Given the description of an element on the screen output the (x, y) to click on. 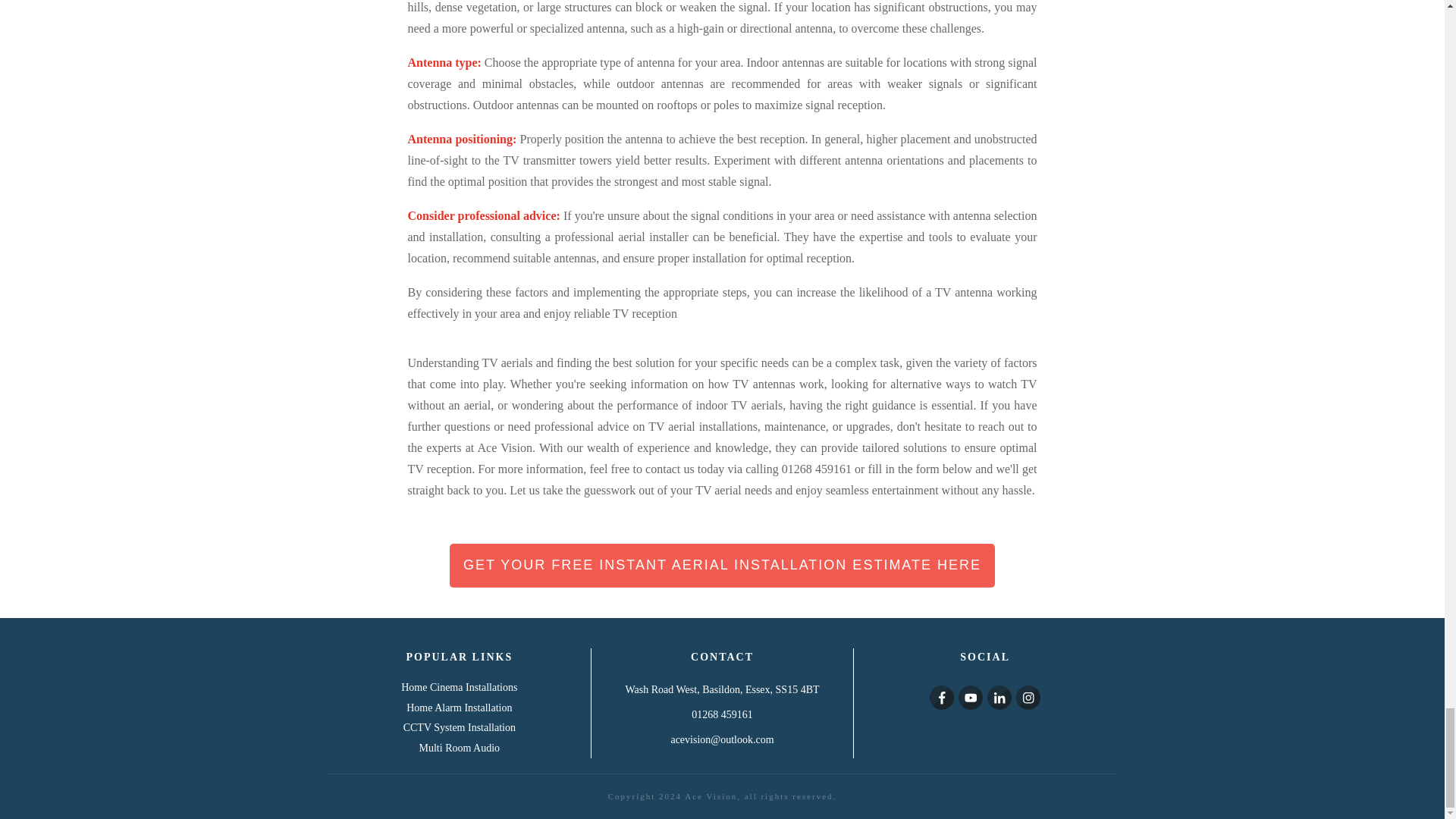
GET YOUR FREE INSTANT AERIAL INSTALLATION ESTIMATE HERE (721, 565)
Home Cinema Installations (458, 686)
Home Alarm Installation (459, 707)
Multi Room Audio (459, 747)
CCTV System Installation (459, 727)
